Given the description of an element on the screen output the (x, y) to click on. 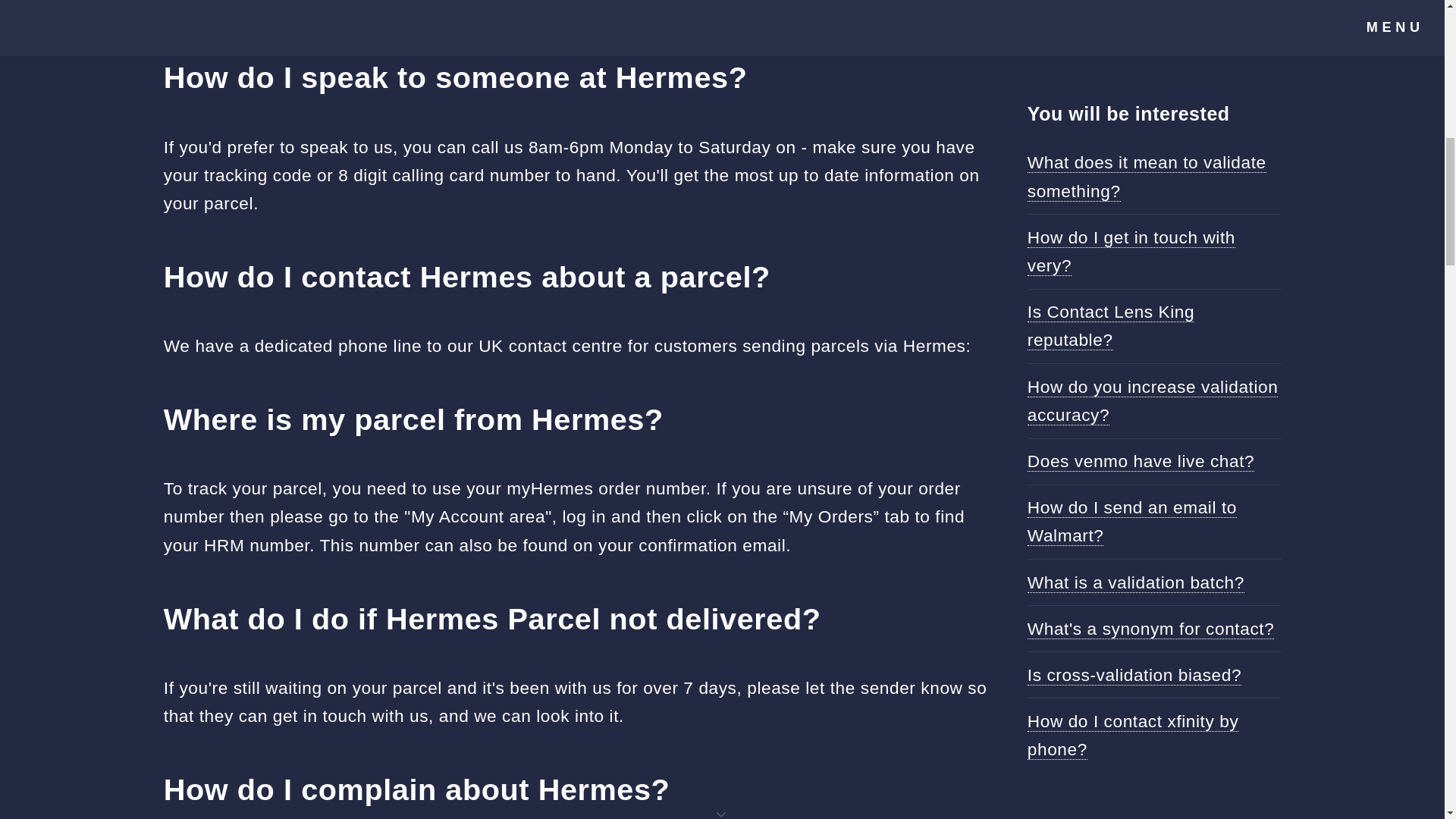
How do I send an email to Walmart? (1131, 521)
How do you increase validation accuracy? (1152, 400)
How do I contact Virgin Atlantic by phone? (1152, 27)
What does it mean to validate something? (1146, 176)
Does venmo have live chat? (1140, 461)
Is Contact Lens King reputable? (1110, 326)
Is there a comma after a state? (315, 7)
How do I get in touch with very? (1130, 251)
